Given the description of an element on the screen output the (x, y) to click on. 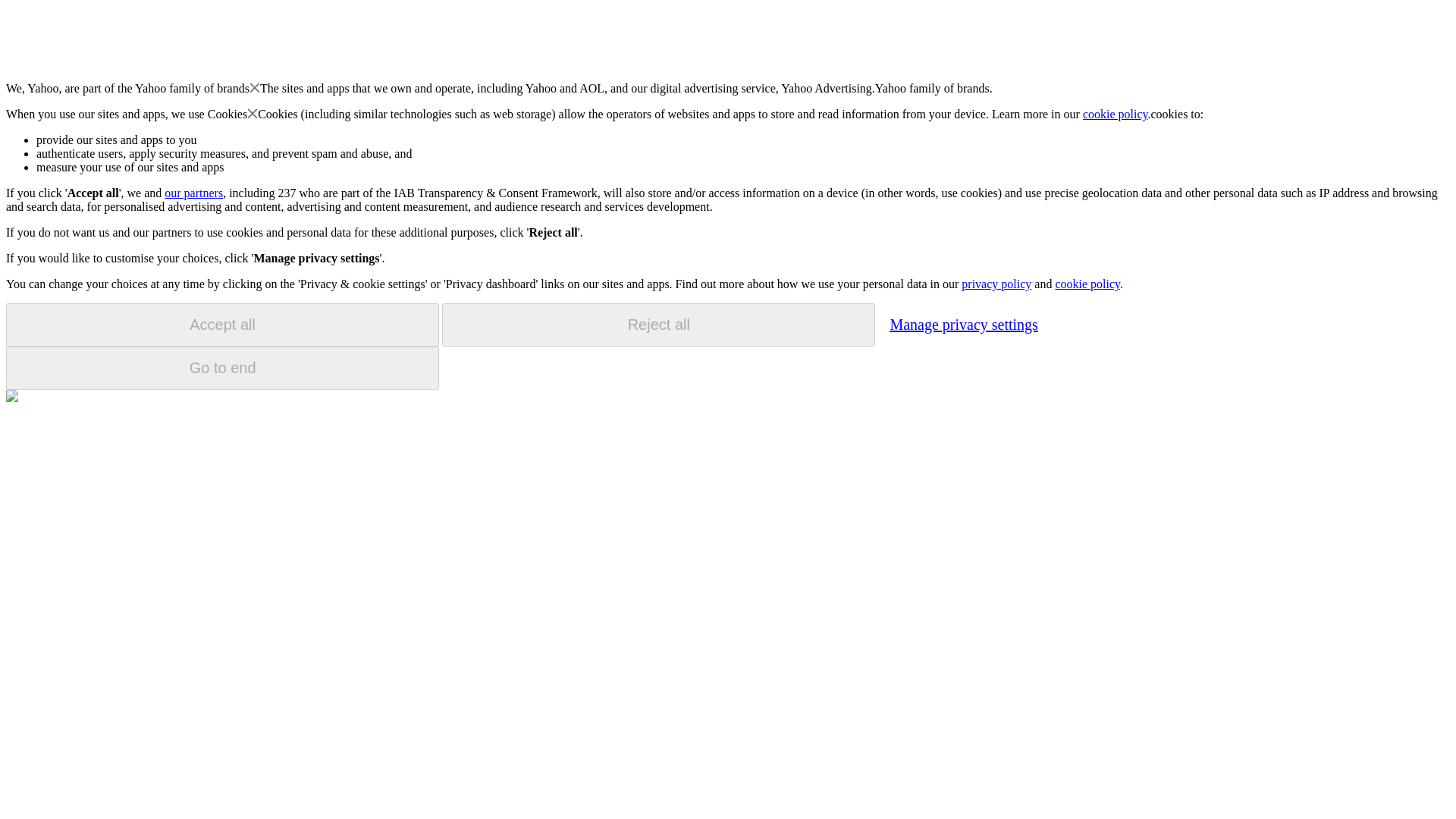
Reject all (658, 324)
Accept all (222, 324)
cookie policy (1115, 113)
our partners (193, 192)
Manage privacy settings (963, 323)
privacy policy (995, 283)
cookie policy (1086, 283)
Go to end (222, 367)
